Given the description of an element on the screen output the (x, y) to click on. 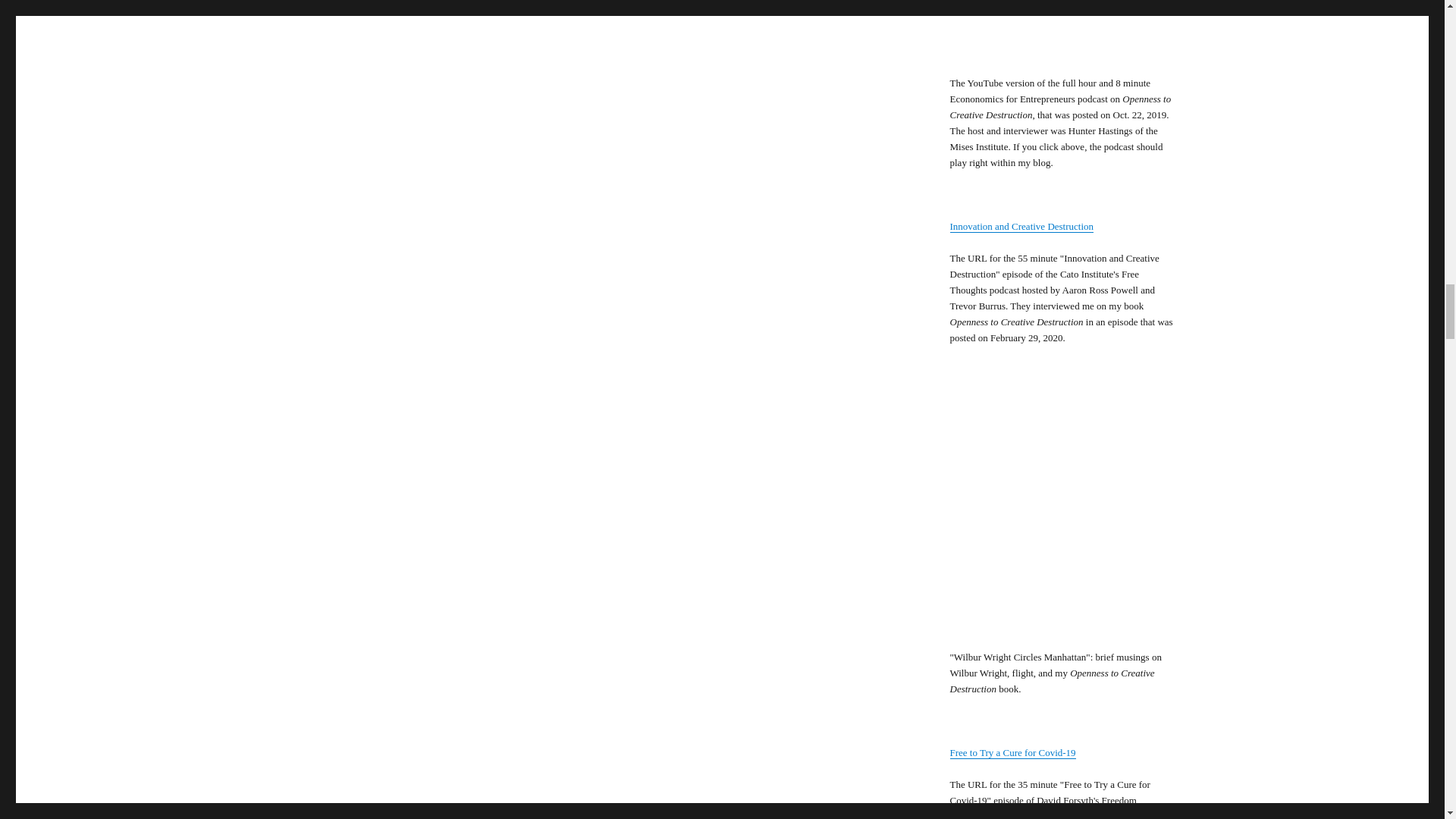
Free to Try a Cure for Covid-19 (1012, 752)
Innovation and Creative Destruction (1021, 225)
